Given the description of an element on the screen output the (x, y) to click on. 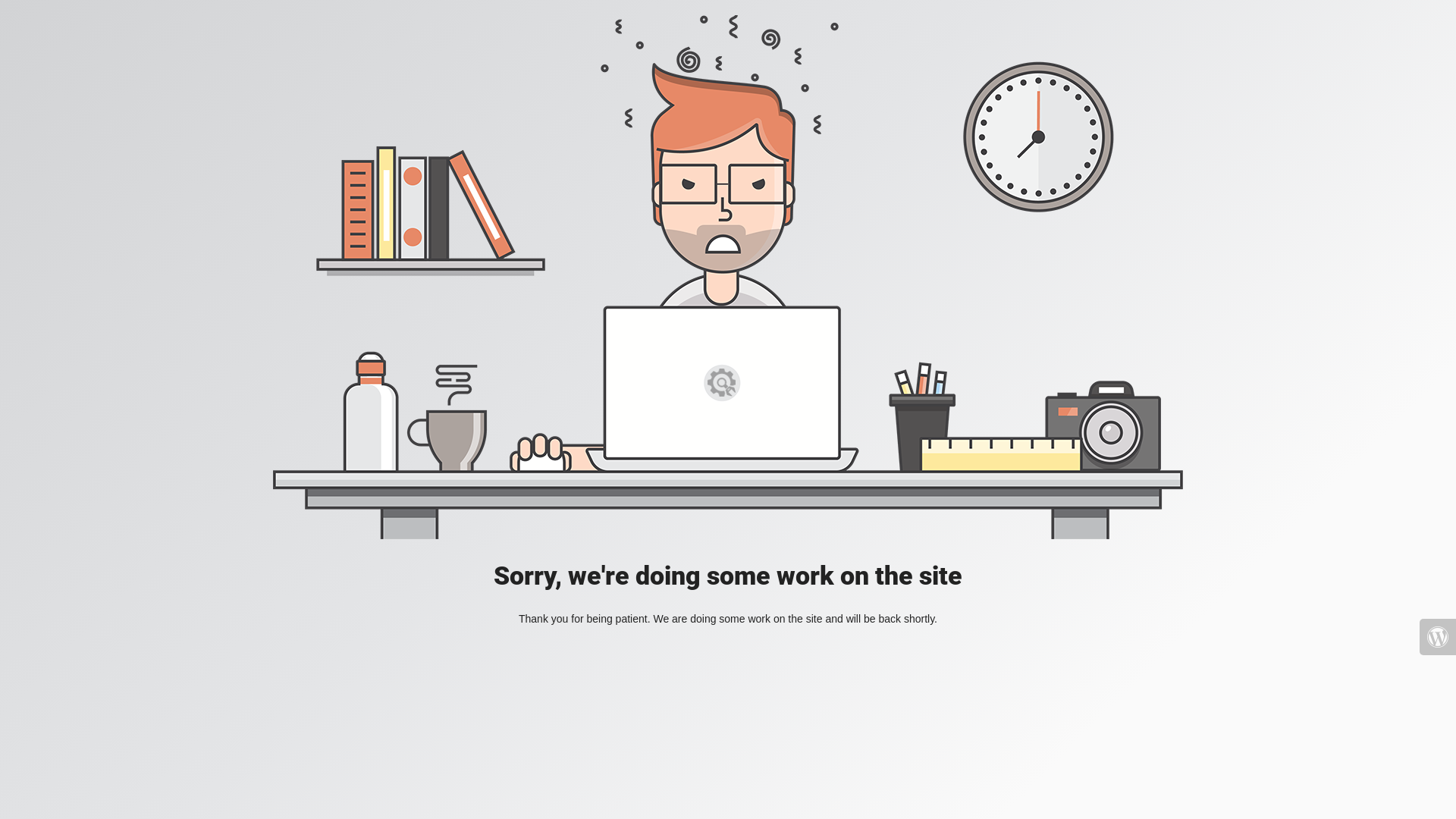
Mad Designer at work Element type: hover (728, 277)
